Given the description of an element on the screen output the (x, y) to click on. 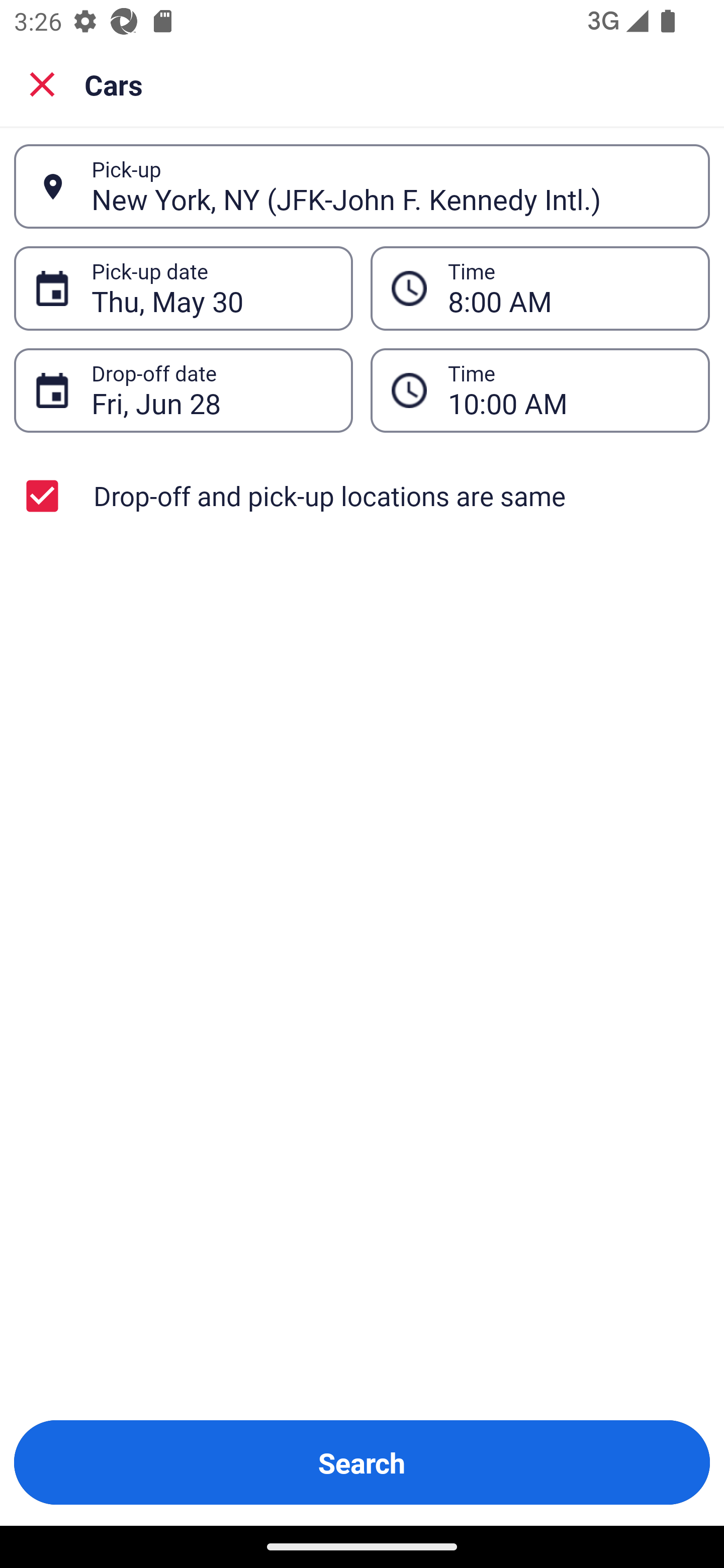
Close search screen (41, 83)
New York, NY (JFK-John F. Kennedy Intl.) Pick-up (361, 186)
New York, NY (JFK-John F. Kennedy Intl.) (389, 186)
Thu, May 30 Pick-up date (183, 288)
8:00 AM (540, 288)
Thu, May 30 (211, 288)
8:00 AM (568, 288)
Fri, Jun 28 Drop-off date (183, 390)
10:00 AM (540, 390)
Fri, Jun 28 (211, 390)
10:00 AM (568, 390)
Drop-off and pick-up locations are same (361, 495)
Search Button Search (361, 1462)
